Given the description of an element on the screen output the (x, y) to click on. 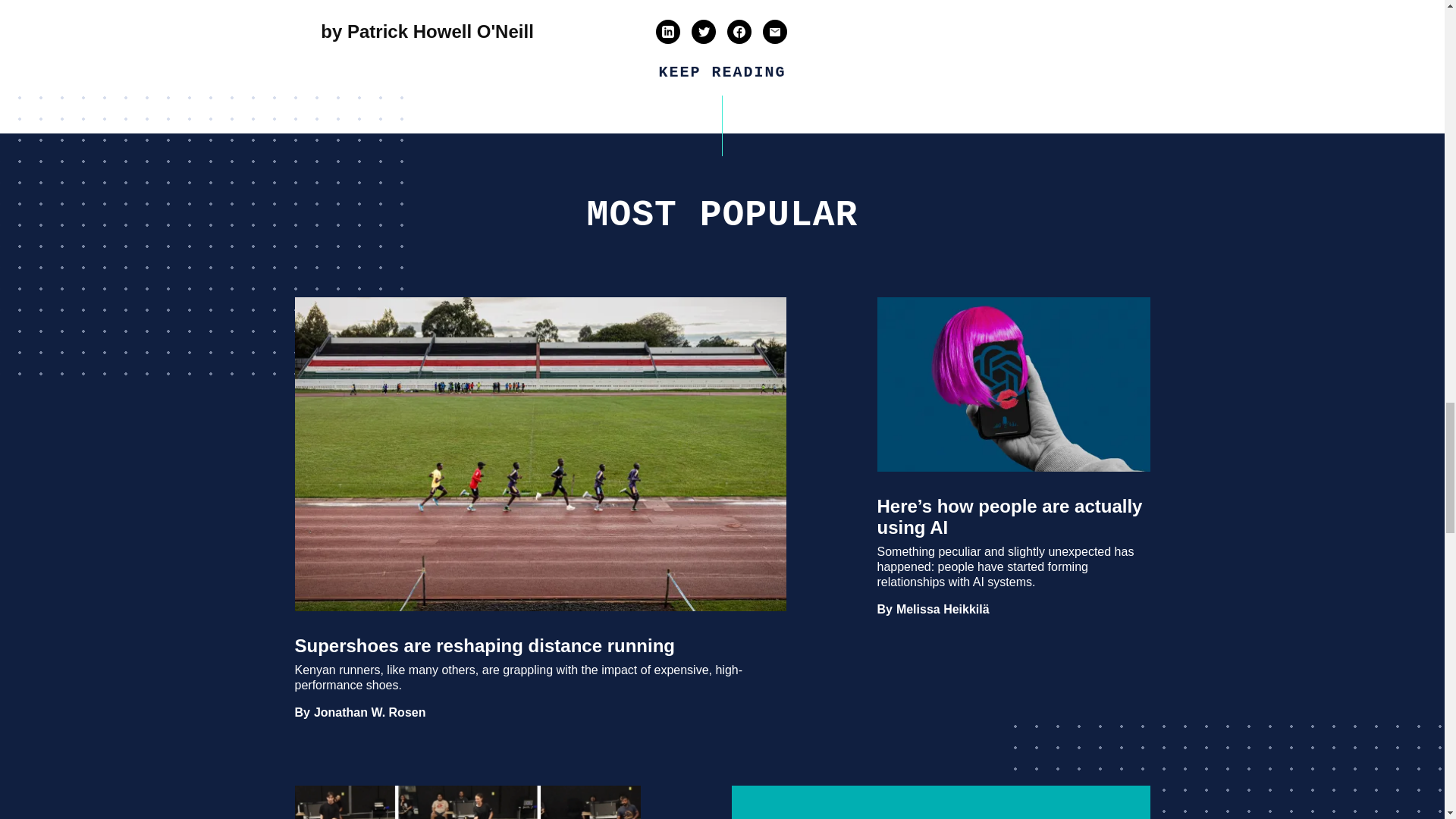
Share story on email (774, 31)
Patrick Howell O'Neill (440, 31)
Share story on twitter (703, 31)
Share story on linkedin (668, 31)
Share story on facebook (739, 31)
